Given the description of an element on the screen output the (x, y) to click on. 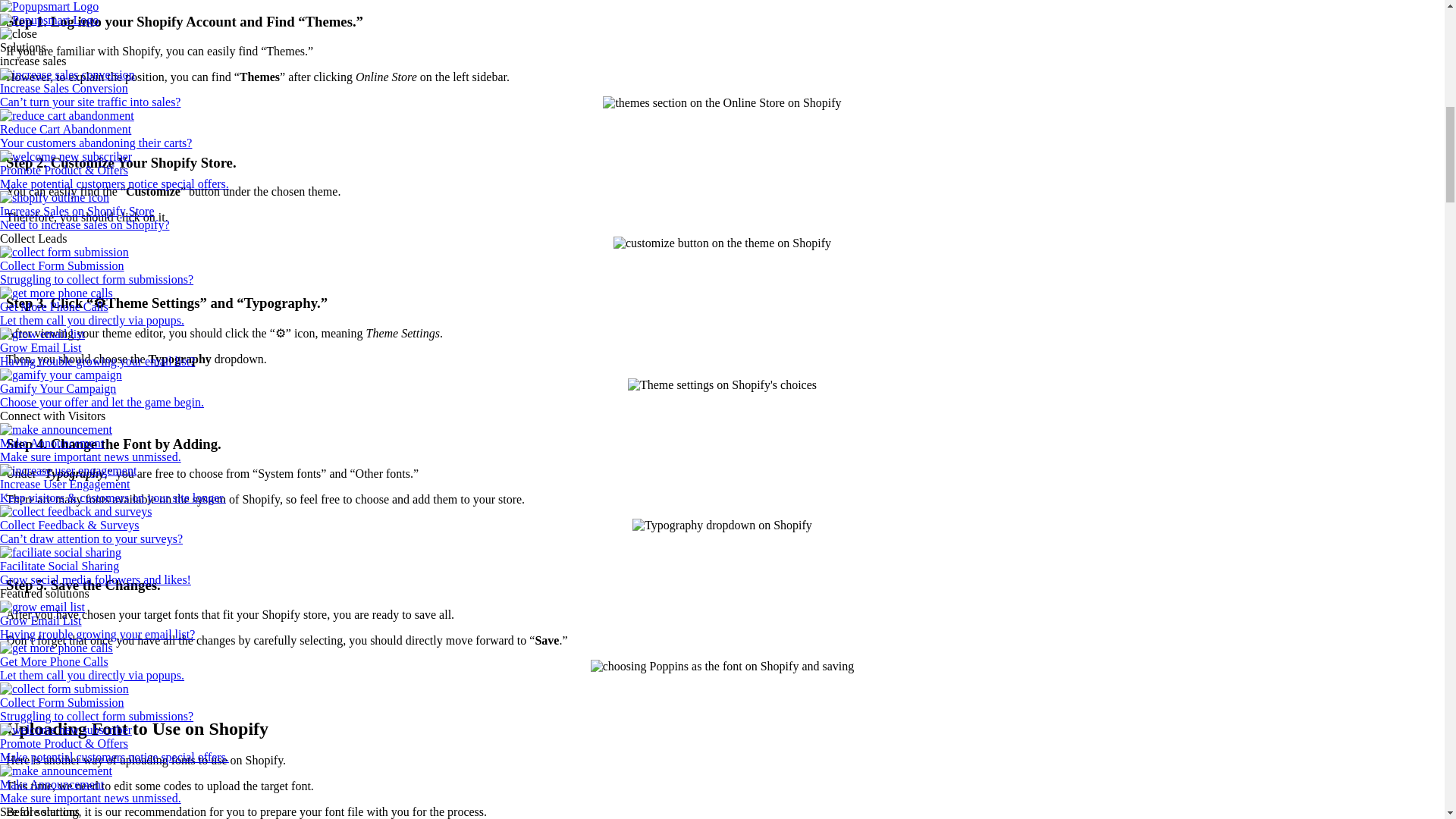
Pricing (17, 743)
Sign In (17, 757)
Product Tour (31, 634)
